Given the description of an element on the screen output the (x, y) to click on. 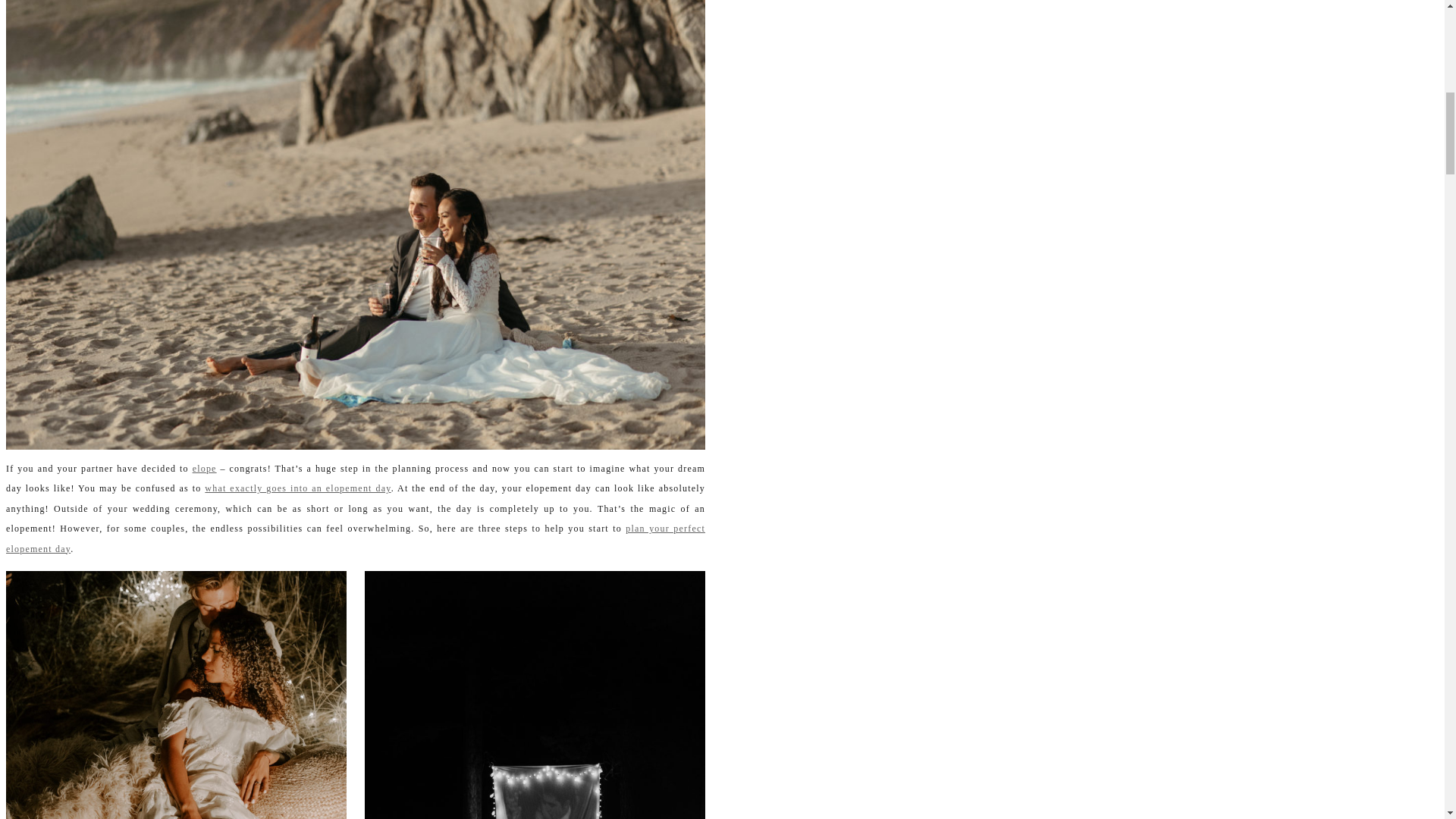
what exactly goes into an elopement day (297, 488)
plan your perfect elopement day (354, 538)
elope (204, 468)
